Given the description of an element on the screen output the (x, y) to click on. 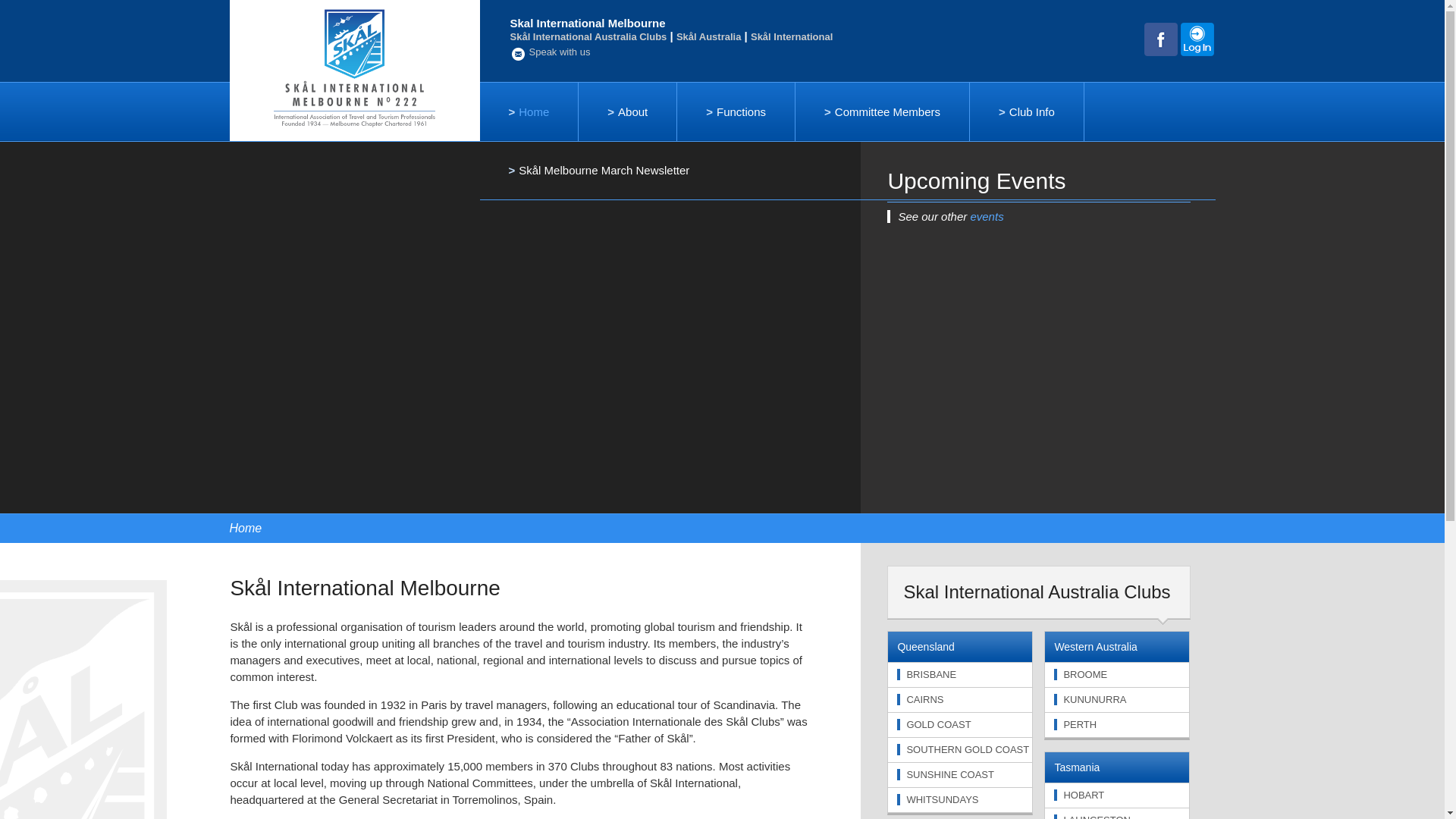
PERTH Element type: text (1075, 724)
WHITSUNDAYS Element type: text (937, 799)
GOLD COAST Element type: text (933, 724)
>Functions Element type: text (736, 111)
Speak with us Element type: text (549, 53)
>Home Element type: text (528, 111)
CAIRNS Element type: text (920, 699)
>About Element type: text (627, 111)
See our other events Element type: text (1038, 216)
BRISBANE Element type: text (926, 674)
BROOME Element type: text (1080, 674)
HOBART Element type: text (1079, 794)
SUNSHINE COAST Element type: text (945, 774)
KUNUNURRA Element type: text (1090, 699)
>Committee Members Element type: text (882, 111)
>Club Info Element type: text (1026, 111)
SOUTHERN GOLD COAST Element type: text (963, 749)
